Given the description of an element on the screen output the (x, y) to click on. 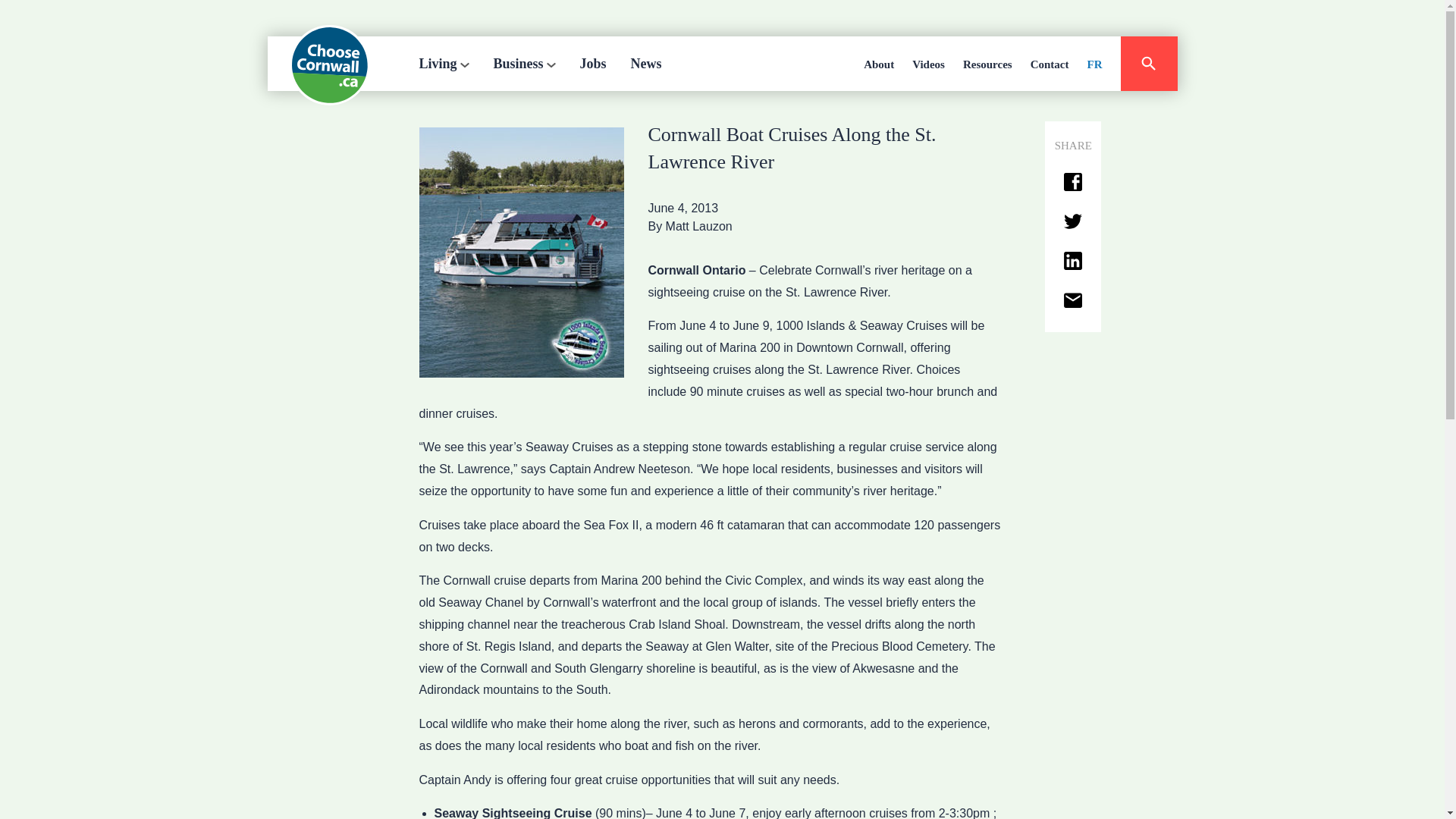
Twitter (1072, 222)
Facebook (1072, 182)
Living (443, 63)
Email (1072, 301)
LinkedIn (1072, 261)
